Given the description of an element on the screen output the (x, y) to click on. 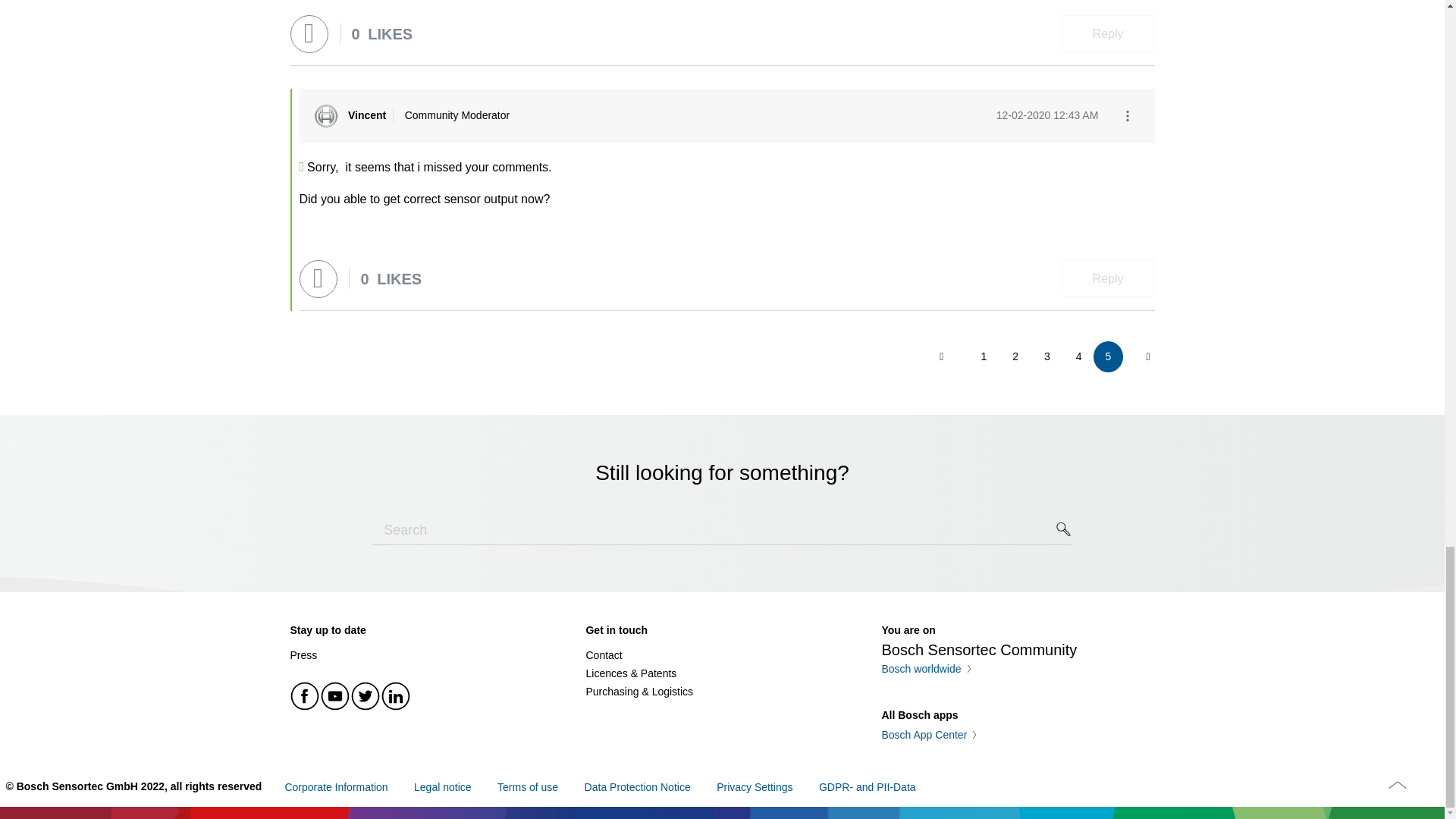
Icon up (1397, 784)
Youtube (335, 695)
Facebook (304, 695)
Linkedin (395, 695)
Icon search (1064, 529)
Twitter (365, 695)
